Given the description of an element on the screen output the (x, y) to click on. 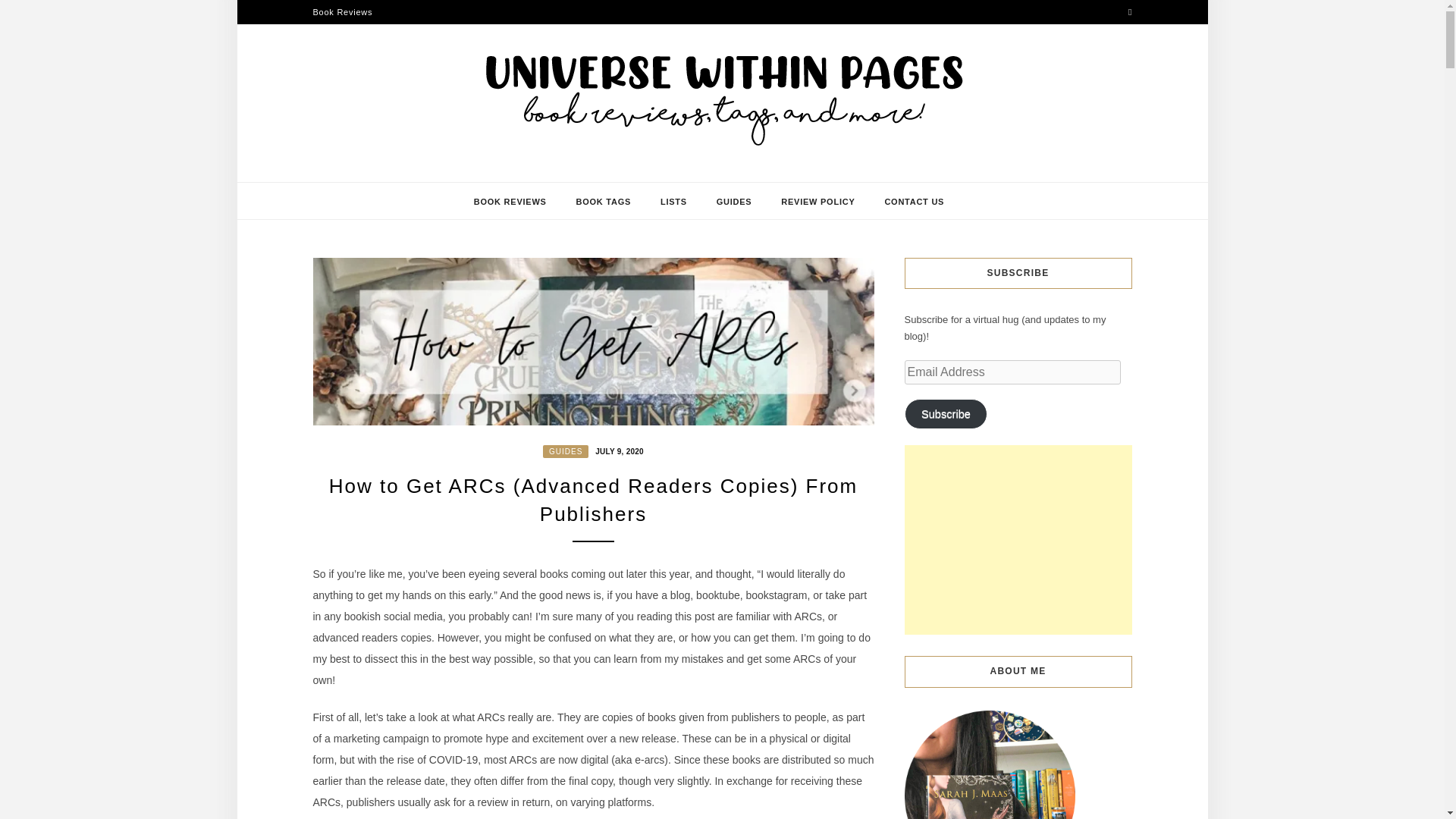
CONTACT US (913, 201)
BOOK REVIEWS (510, 201)
GUIDES (565, 451)
REVIEW POLICY (817, 201)
BOOK TAGS (603, 201)
GUIDES (734, 201)
JULY 9, 2020 (617, 450)
About Me (989, 764)
Book Reviews (342, 12)
